Given the description of an element on the screen output the (x, y) to click on. 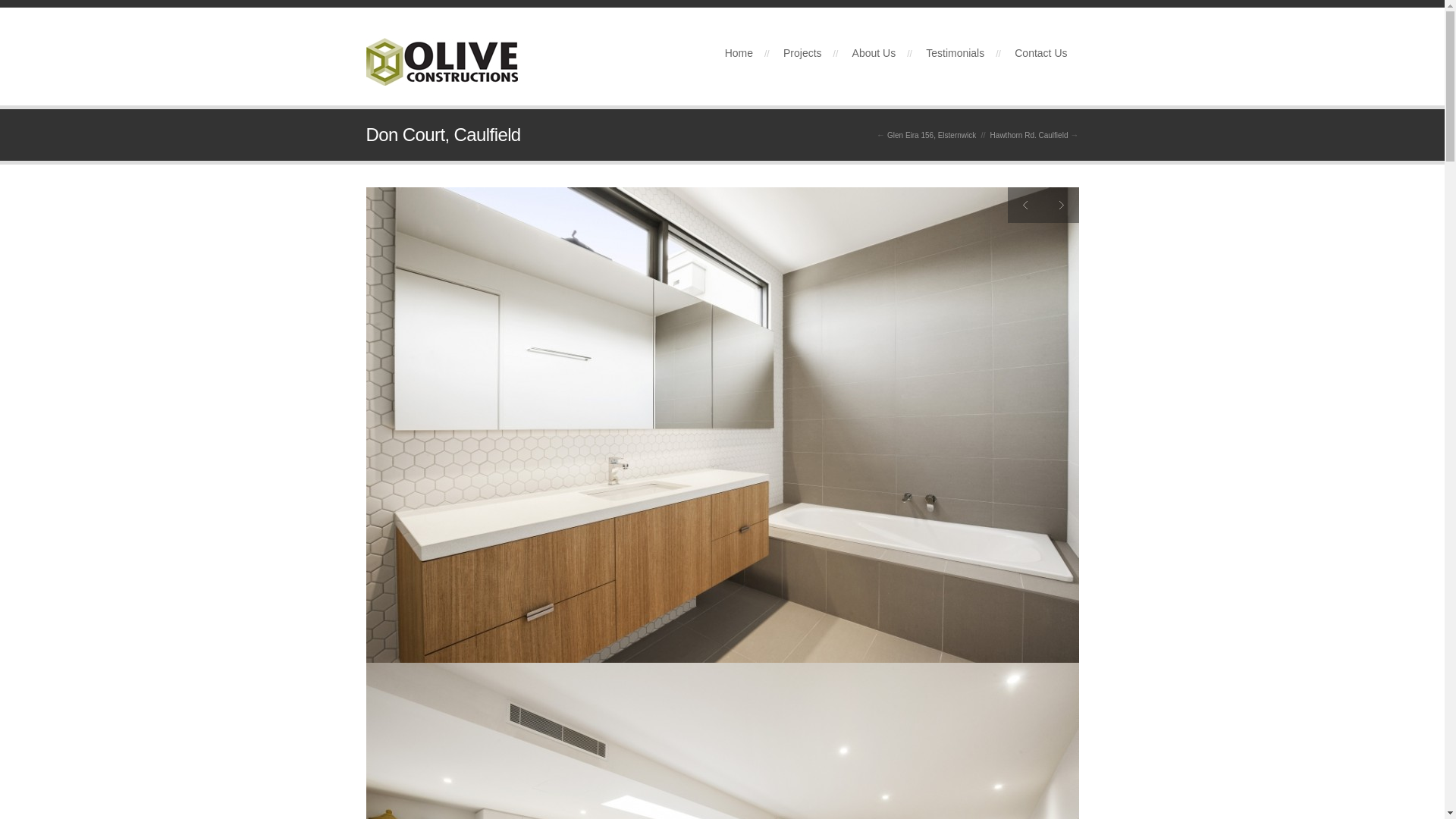
Projects Element type: text (802, 53)
Glen Eira 156, Elsternwick Element type: text (931, 135)
Contact Us Element type: text (1040, 53)
Olive Constructions - Melbourne building company Element type: hover (441, 77)
Home Element type: text (738, 53)
Testimonials Element type: text (954, 53)
Hawthorn Rd. Caulfield Element type: text (1029, 135)
About Us Element type: text (873, 53)
Previous Element type: text (1024, 204)
Next Element type: text (1061, 204)
